Given the description of an element on the screen output the (x, y) to click on. 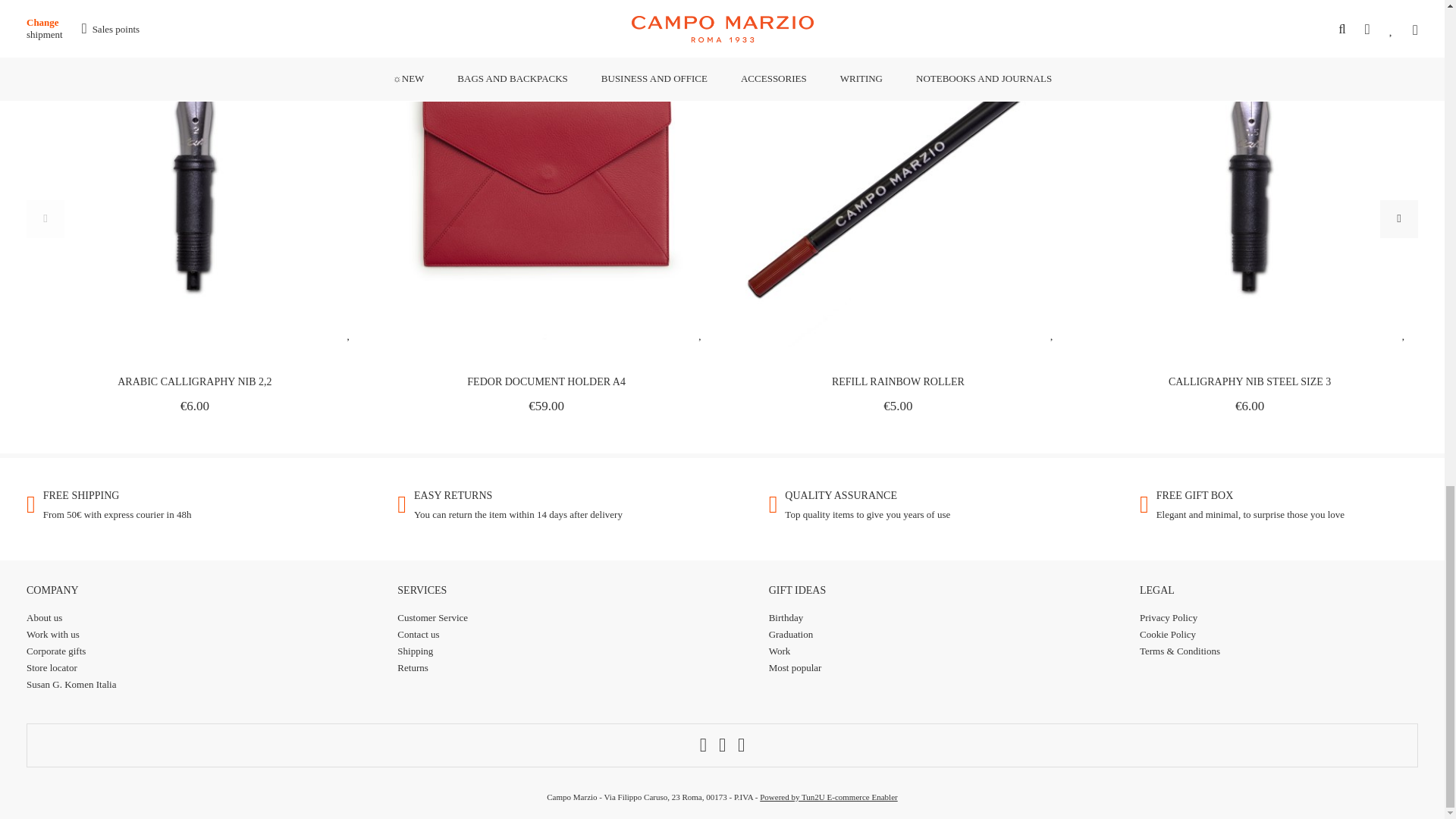
Refill Rainbow Roller (897, 381)
Arabic Calligraphy Nib 2,2 (193, 381)
Calligraphy Nib Steel Size 3 (1249, 381)
Fedor Document Holder A4 (546, 381)
